Given the description of an element on the screen output the (x, y) to click on. 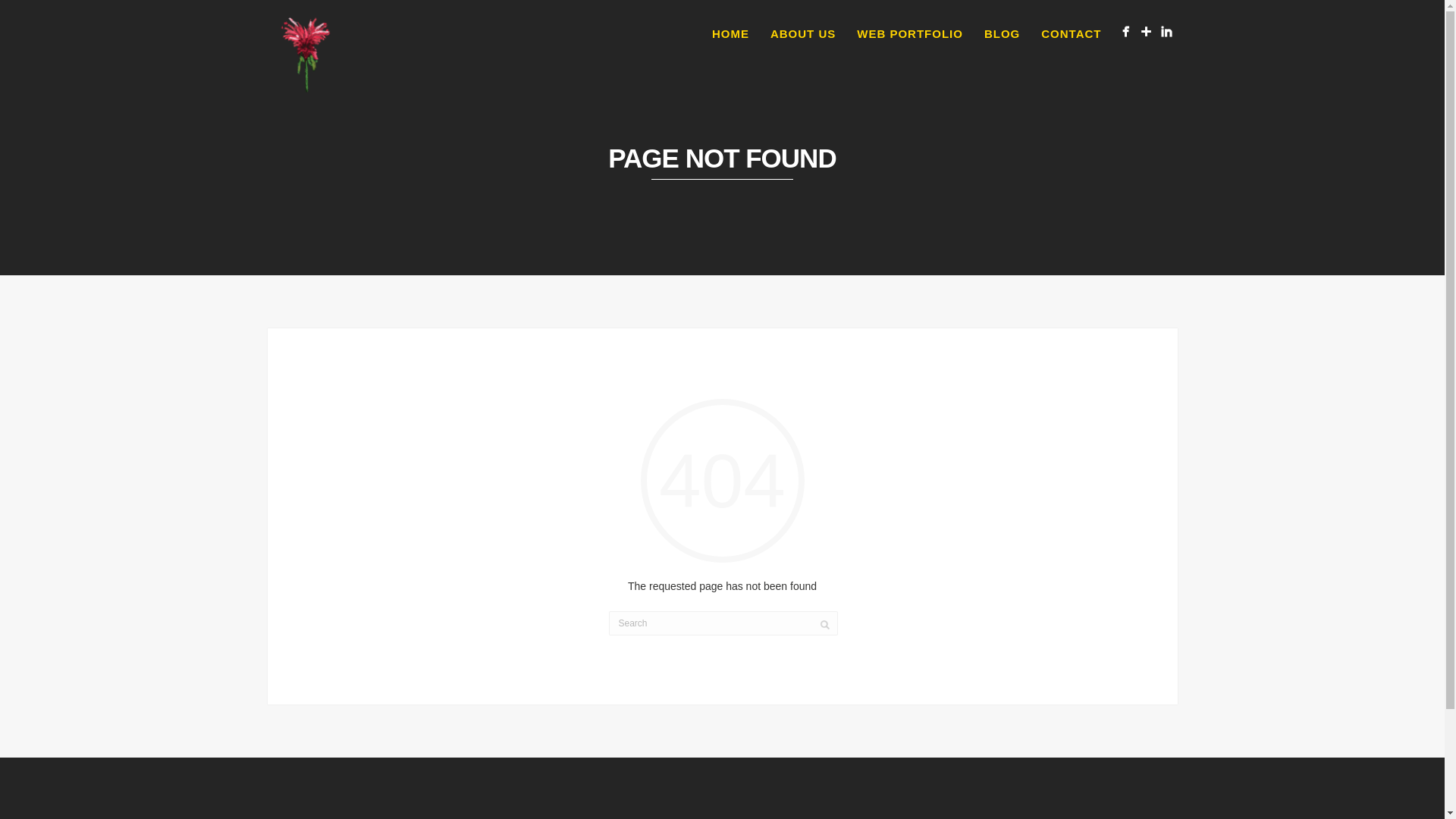
ABOUT US (802, 33)
HOME (730, 33)
CONTACT (1071, 33)
BLOG (1002, 33)
WEB PORTFOLIO (909, 33)
